Given the description of an element on the screen output the (x, y) to click on. 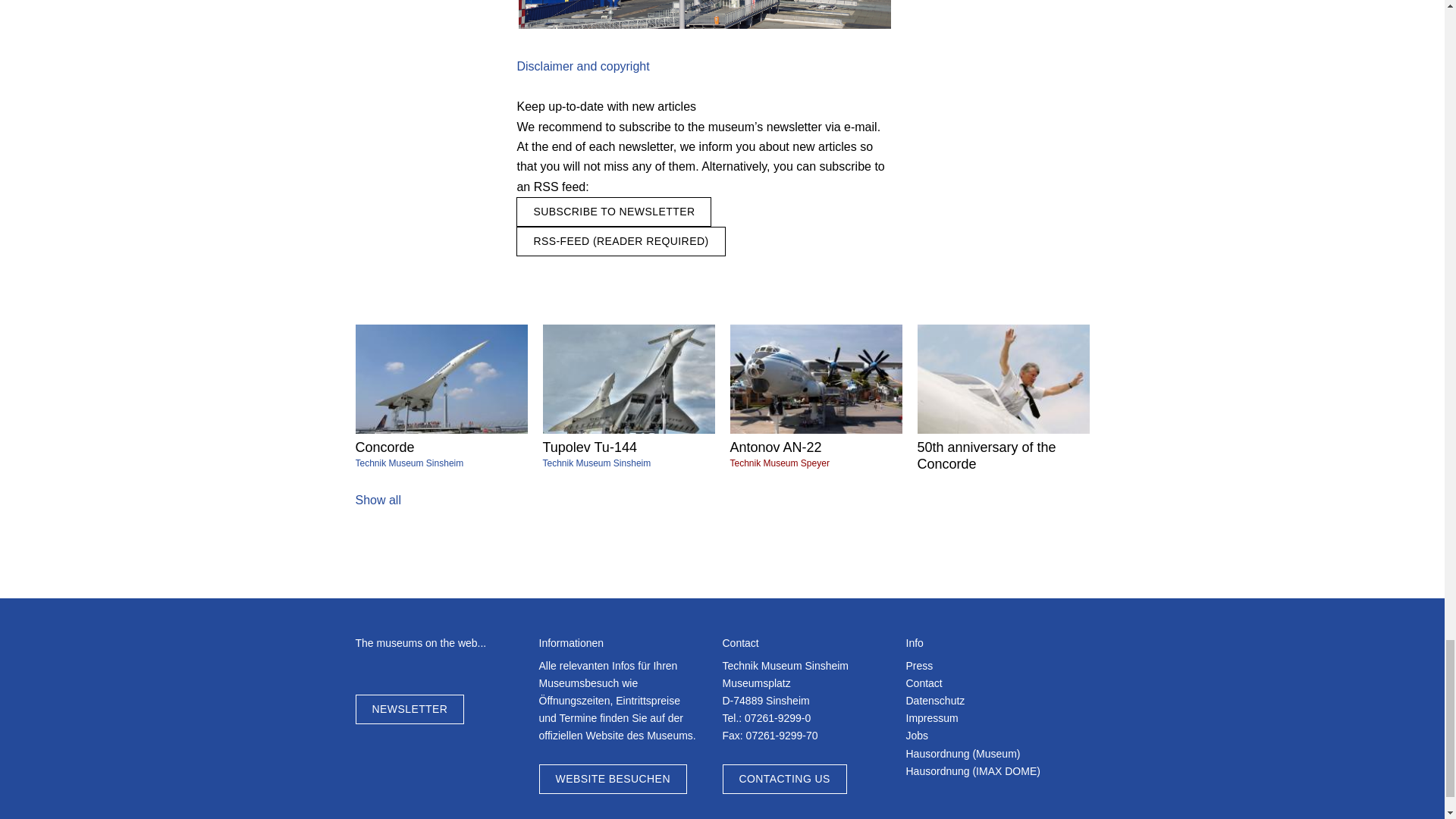
Show all (377, 499)
SUBSCRIBE TO NEWSLETTER (441, 397)
Disclaimer and copyright (613, 211)
50th anniversary of the Concorde (628, 397)
